Given the description of an element on the screen output the (x, y) to click on. 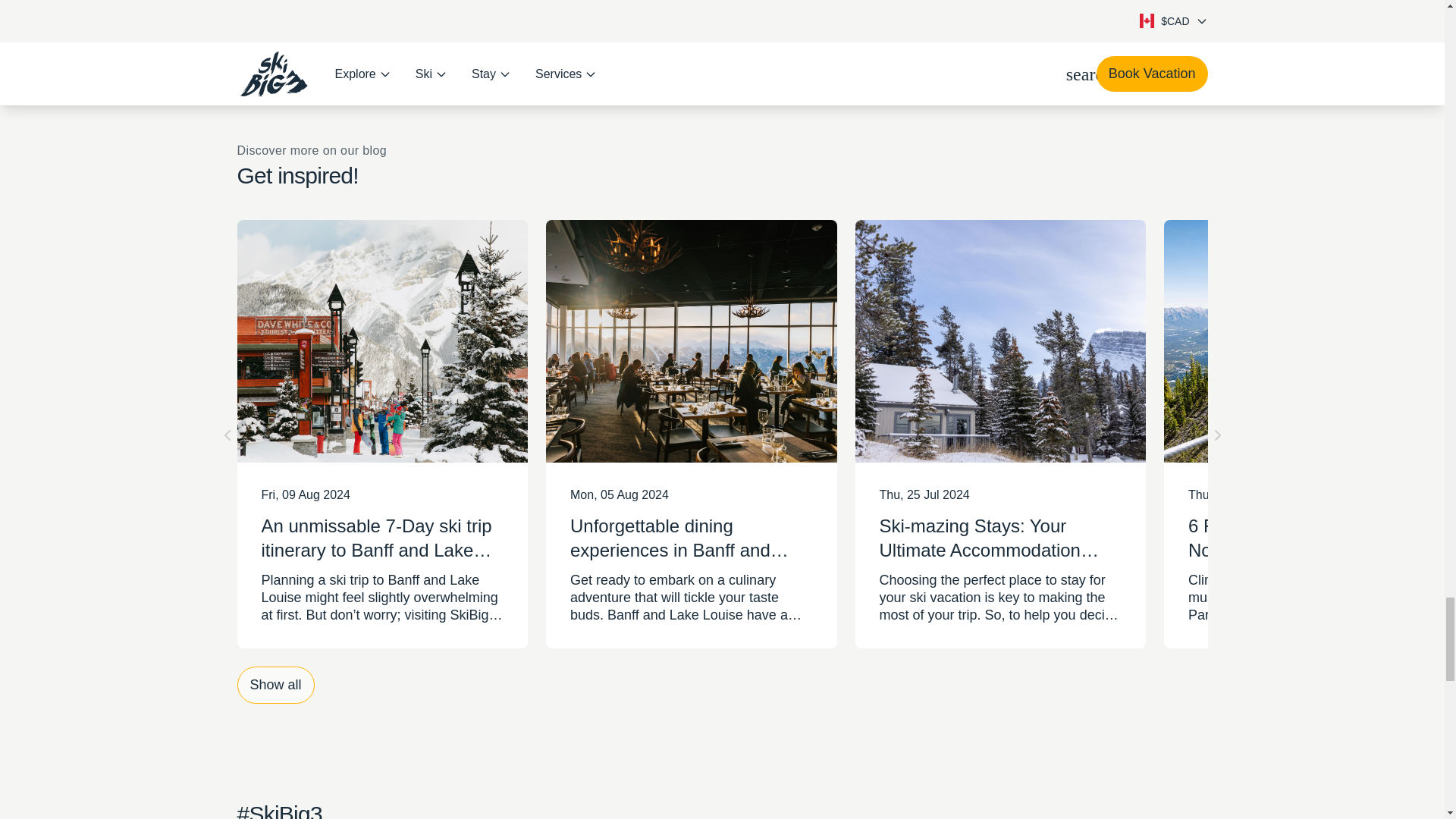
Vacation Packages (722, 10)
Vacation Packages (722, 10)
Show all (274, 684)
